Given the description of an element on the screen output the (x, y) to click on. 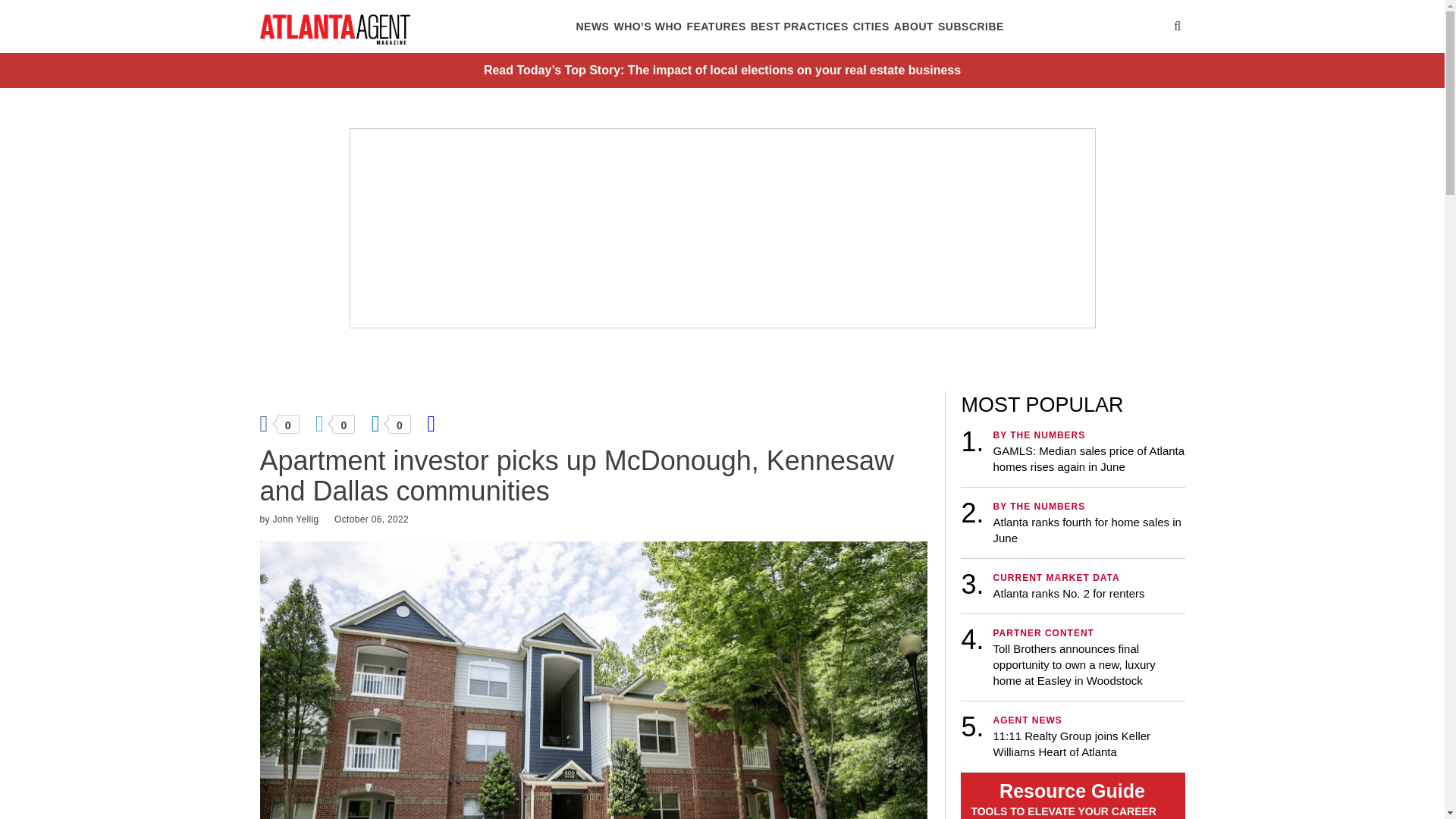
Twitter (333, 422)
FEATURES (716, 26)
LinkedIn (390, 422)
NEWS (592, 26)
Facebook (278, 422)
